Given the description of an element on the screen output the (x, y) to click on. 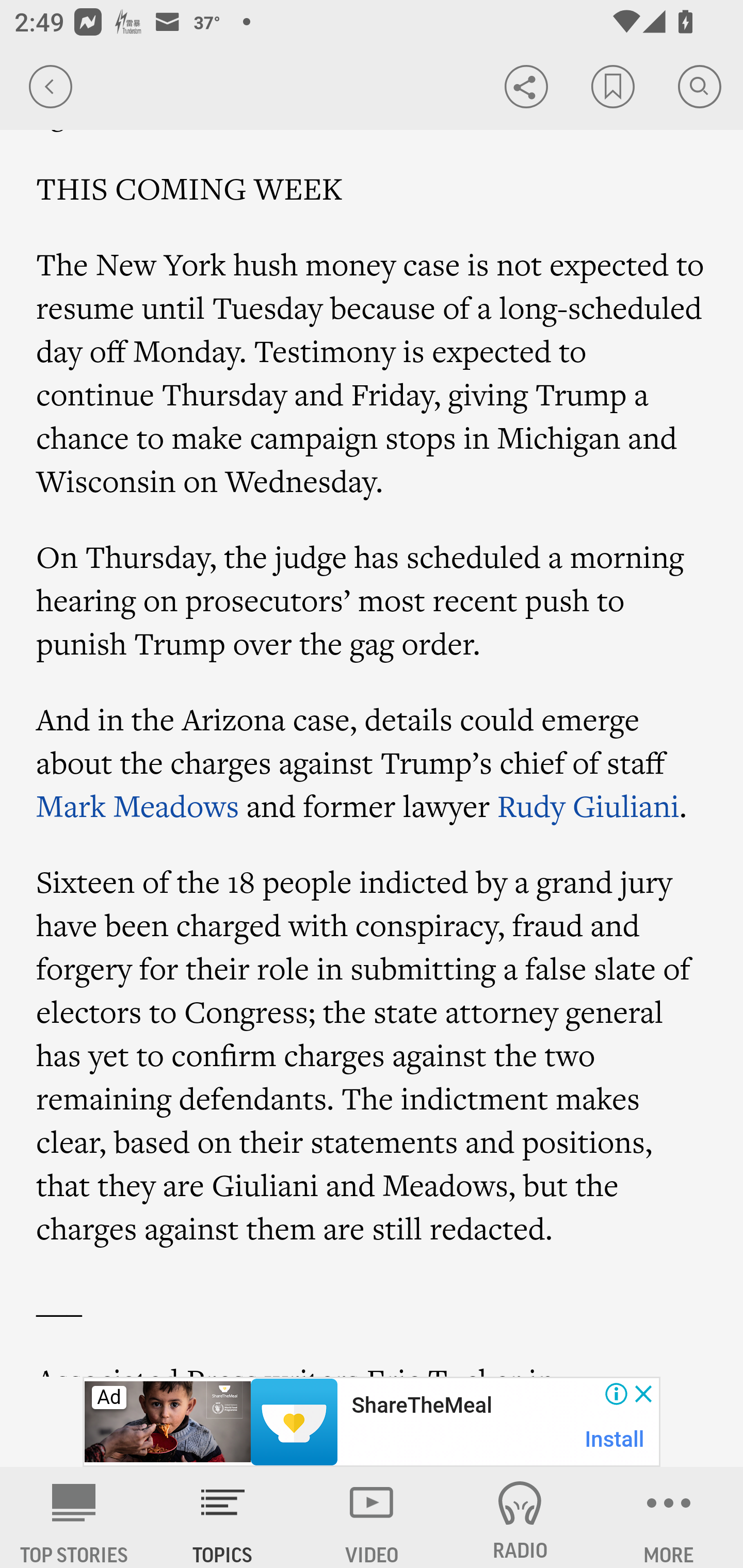
Mark Meadows (137, 805)
Rudy Giuliani (588, 805)
ShareTheMeal (420, 1405)
Install (614, 1438)
AP News TOP STORIES (74, 1517)
TOPICS (222, 1517)
VIDEO (371, 1517)
RADIO (519, 1517)
MORE (668, 1517)
